Given the description of an element on the screen output the (x, y) to click on. 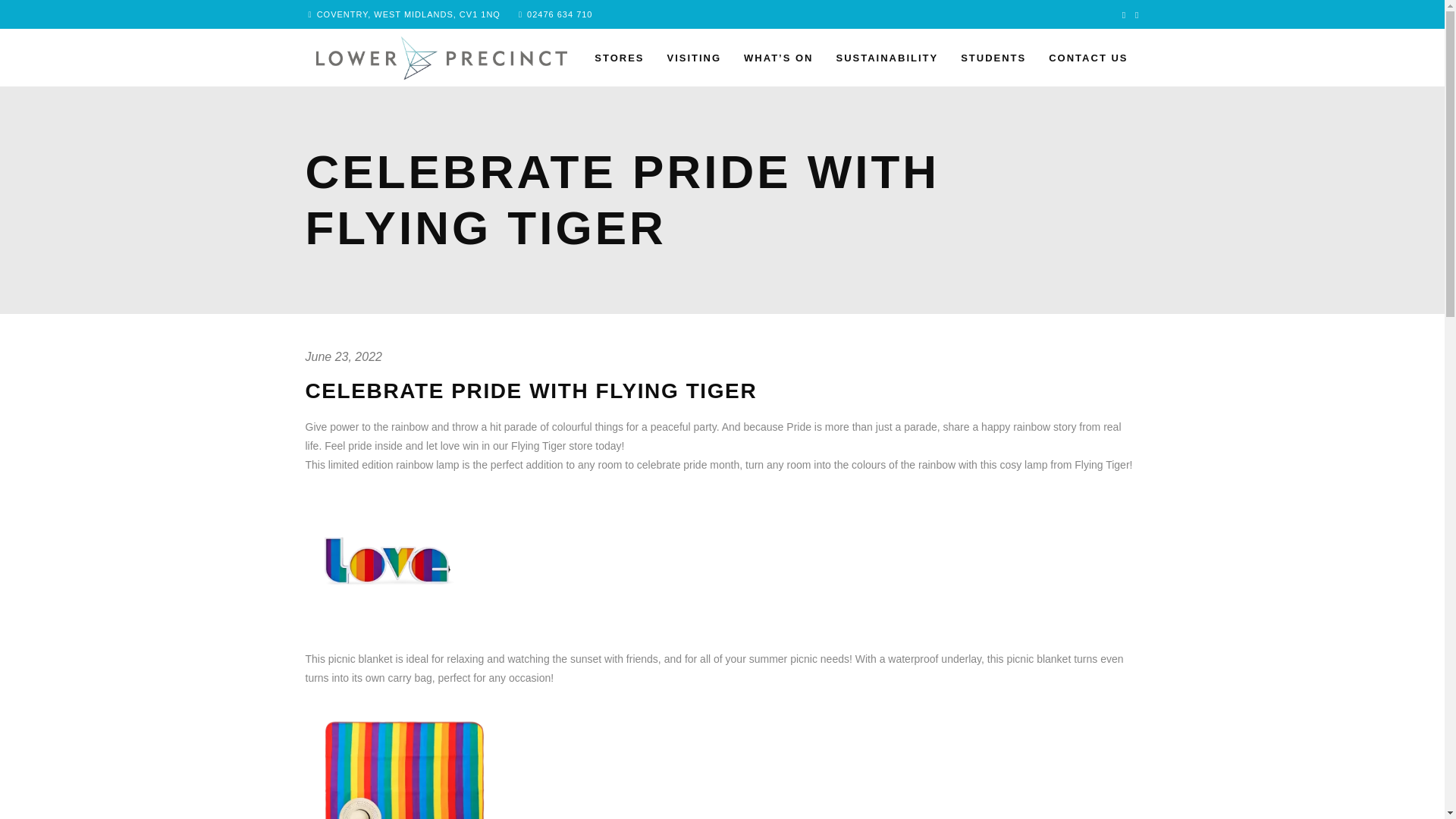
SUSTAINABILITY (887, 57)
STUDENTS (992, 57)
CONTACT US (1087, 57)
VISITING (693, 57)
STORES (619, 57)
